Given the description of an element on the screen output the (x, y) to click on. 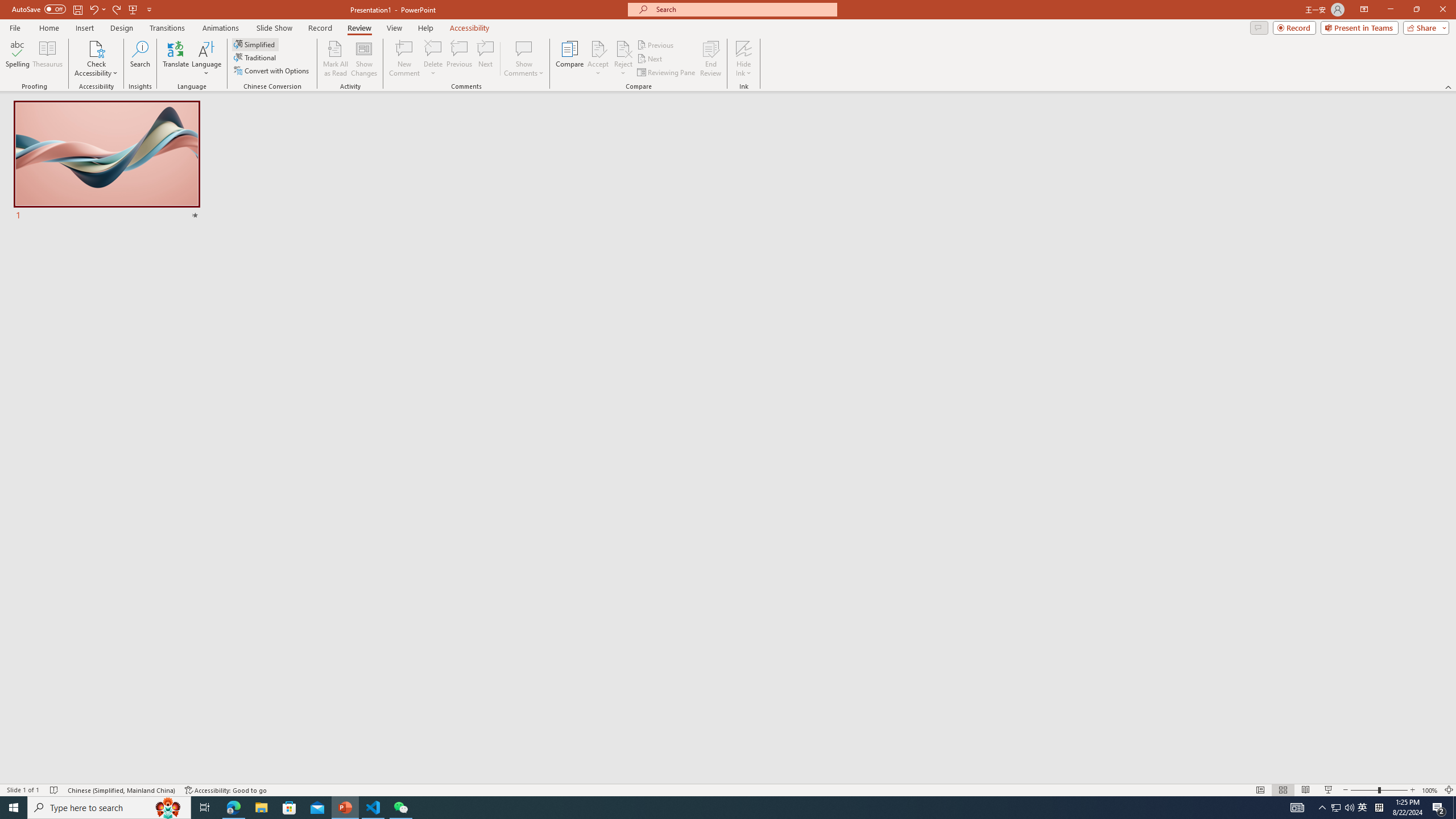
New Comment (403, 58)
Hide Ink (743, 58)
Show Comments (524, 58)
Restore Down (1416, 9)
Slide Sorter (1282, 790)
Spelling... (17, 58)
Simplified (254, 44)
Check Accessibility (95, 48)
Microsoft search (742, 9)
Present in Teams (1359, 27)
Accessibility (469, 28)
Class: MsoCommandBar (728, 789)
Zoom (1379, 790)
Record (1294, 27)
Traditional (255, 56)
